Given the description of an element on the screen output the (x, y) to click on. 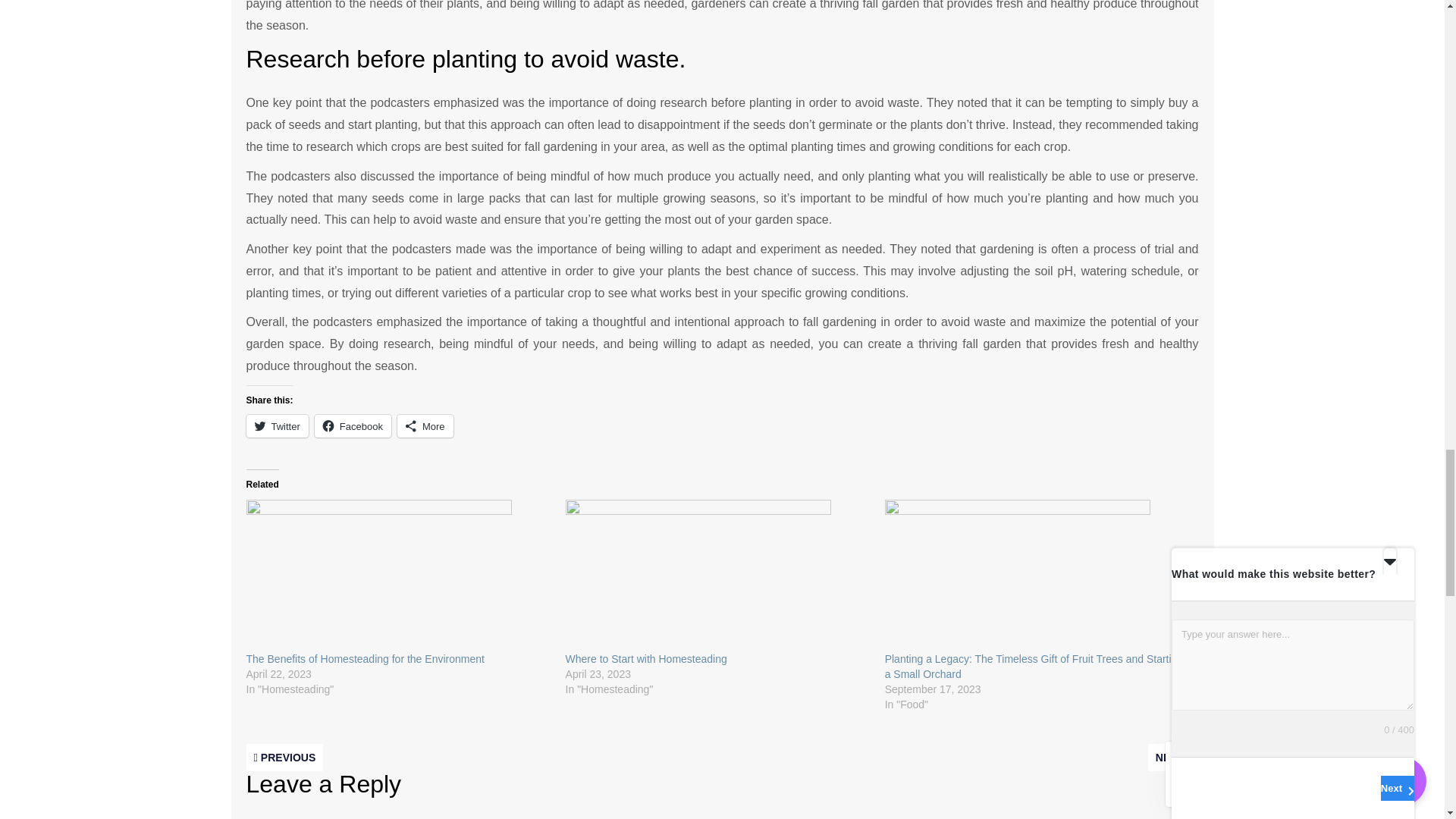
PREVIOUS (284, 757)
The Benefits of Homesteading for the Environment (364, 658)
More (424, 425)
The Benefits of Homesteading for the Environment (364, 658)
Where to Start with Homesteading (646, 658)
The Benefits of Homesteading for the Environment (398, 575)
Where to Start with Homesteading (717, 575)
Where to Start with Homesteading (646, 658)
